Given the description of an element on the screen output the (x, y) to click on. 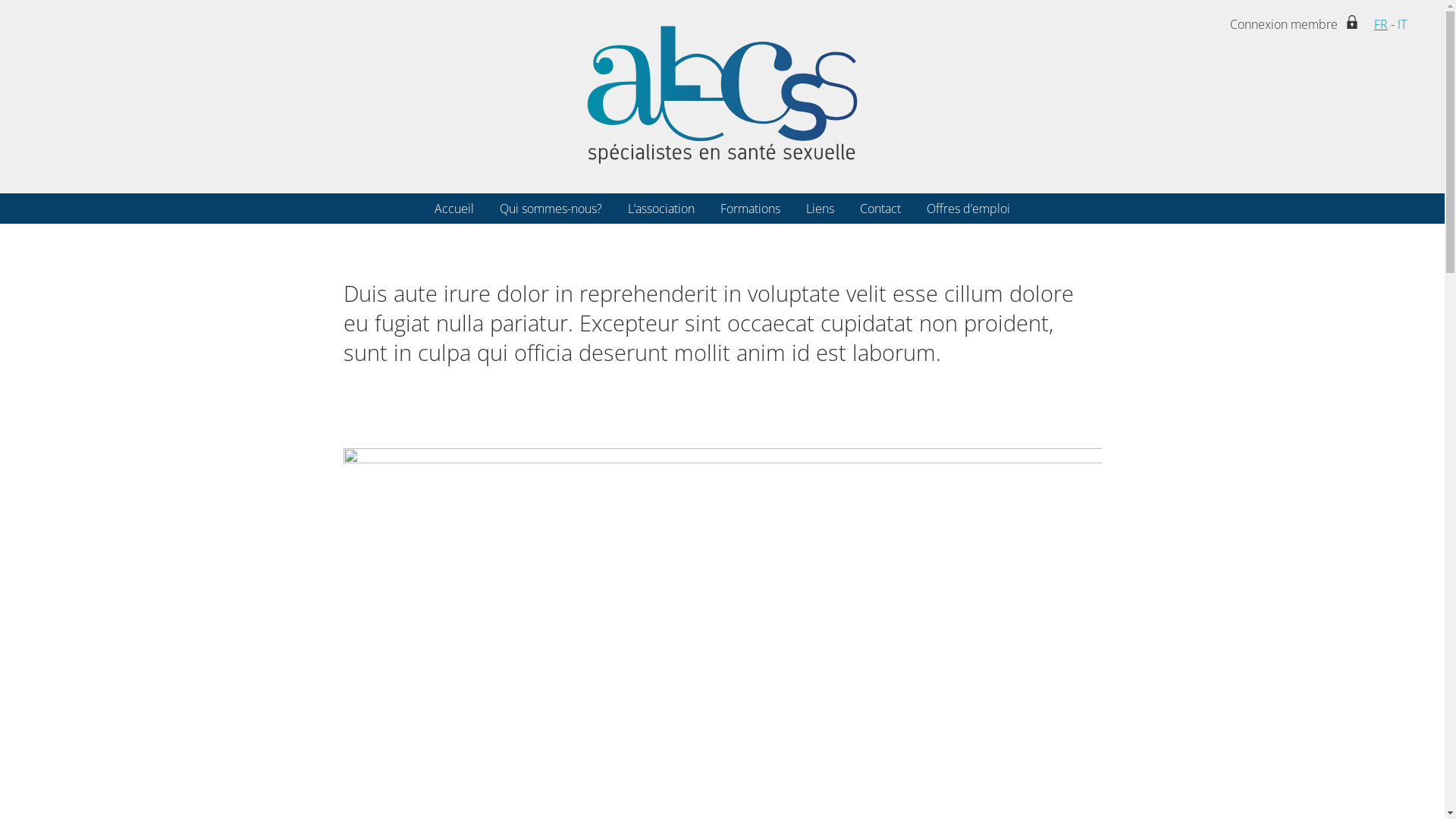
Qui sommes-nous? Element type: text (550, 208)
Liens Element type: text (819, 208)
Contact Element type: text (880, 208)
FR Element type: text (1380, 23)
Accueil Element type: text (454, 208)
Formations Element type: text (750, 208)
Connexion membre Element type: text (1283, 23)
IT Element type: text (1401, 23)
